Given the description of an element on the screen output the (x, y) to click on. 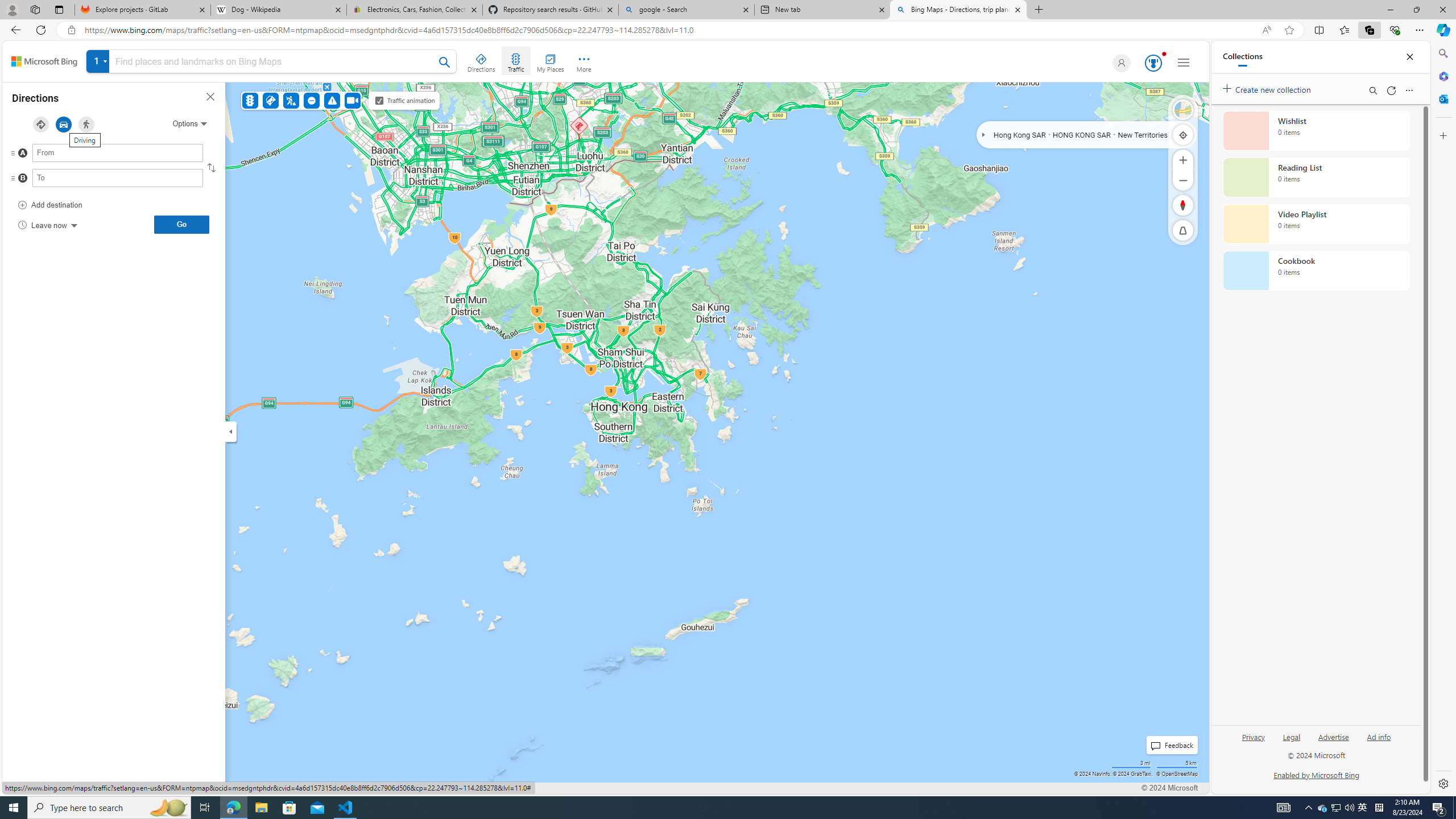
Wishlist collection, 0 items (1316, 130)
Traffic (249, 100)
Leave now (47, 224)
Expand/Collapse Cards (230, 431)
Microsoft Rewards 63 (1152, 63)
Privacy and Cookies (44, 787)
Select Style (1182, 109)
Class: sbElement (43, 60)
